Given the description of an element on the screen output the (x, y) to click on. 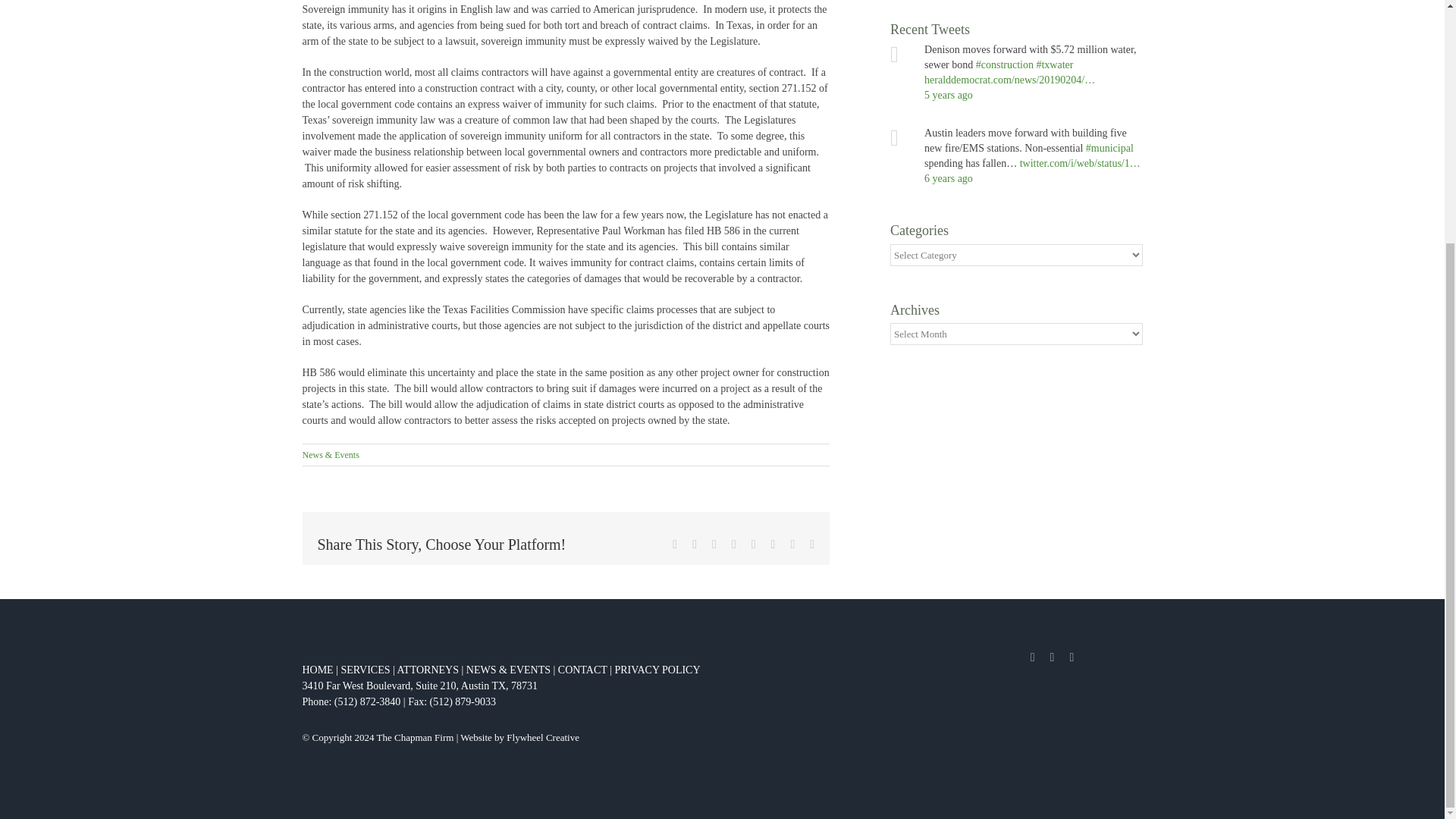
5 years ago (948, 94)
